Given the description of an element on the screen output the (x, y) to click on. 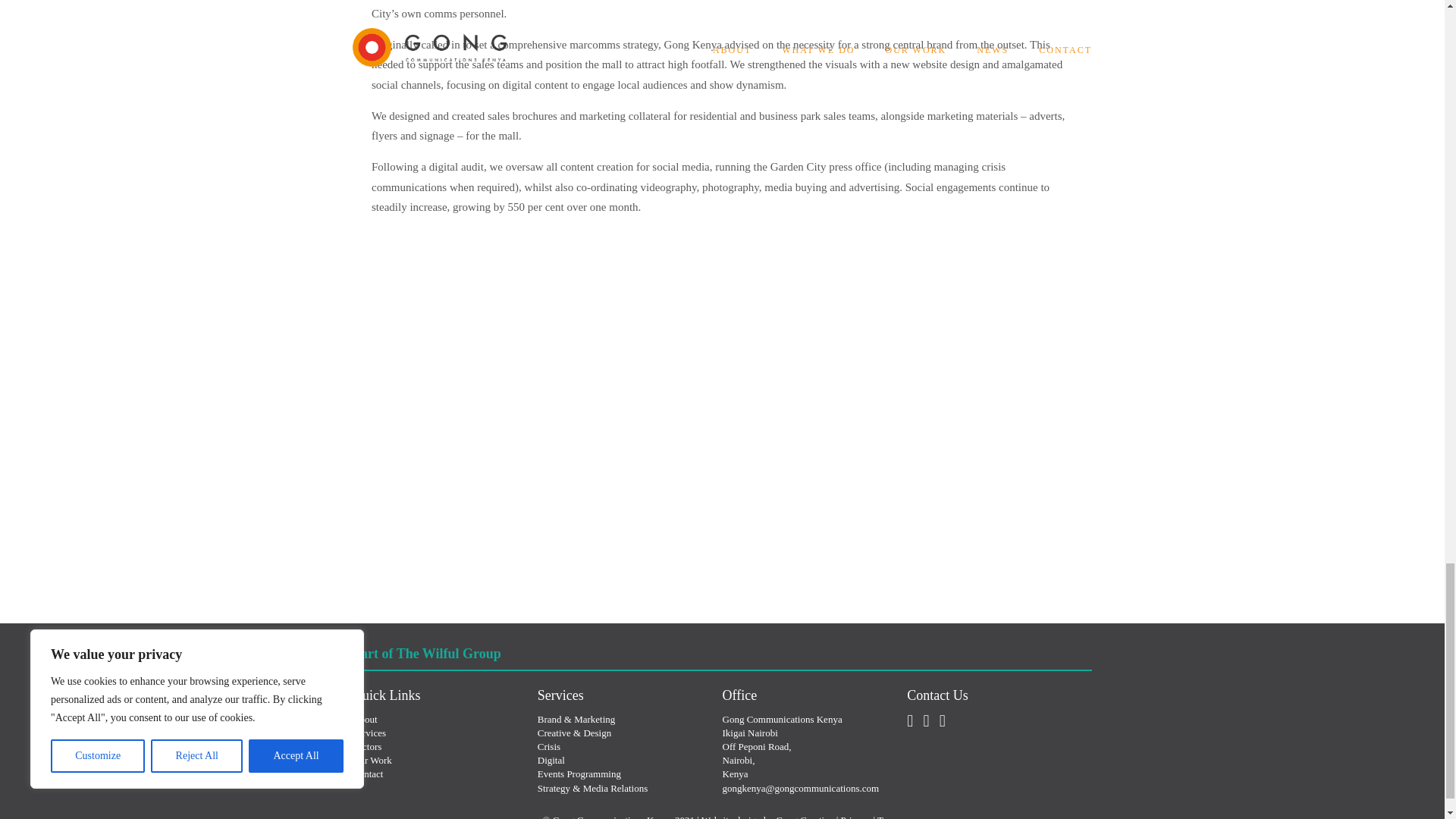
Garden City Promo.mp4 (903, 381)
Services (368, 732)
About (364, 718)
Sectors (366, 746)
Contact (367, 773)
Our Work (371, 759)
Garden City Fast.mov (541, 381)
Part of The Wilful Group (426, 653)
